Given the description of an element on the screen output the (x, y) to click on. 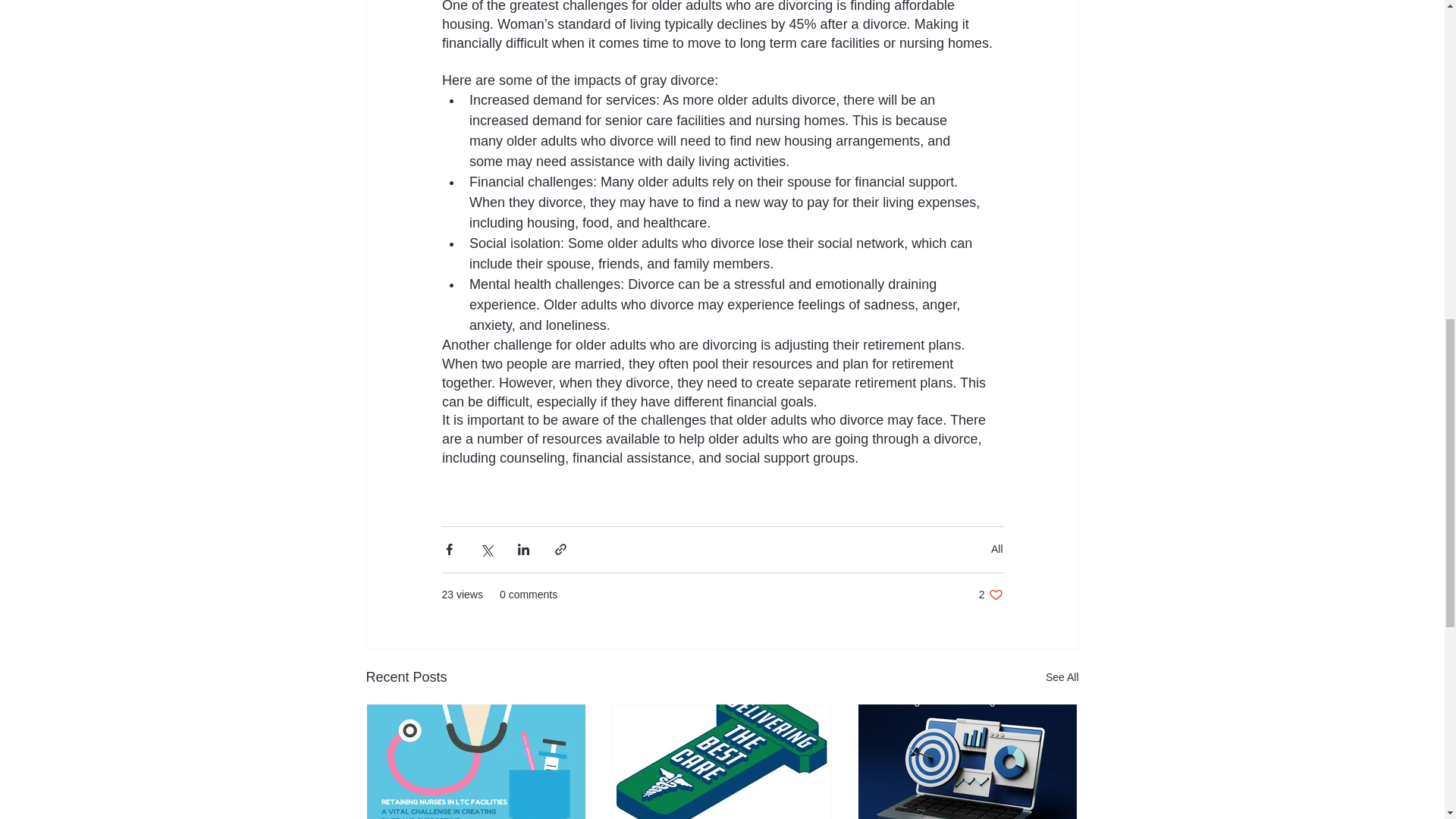
All (997, 548)
See All (1061, 677)
